Given the description of an element on the screen output the (x, y) to click on. 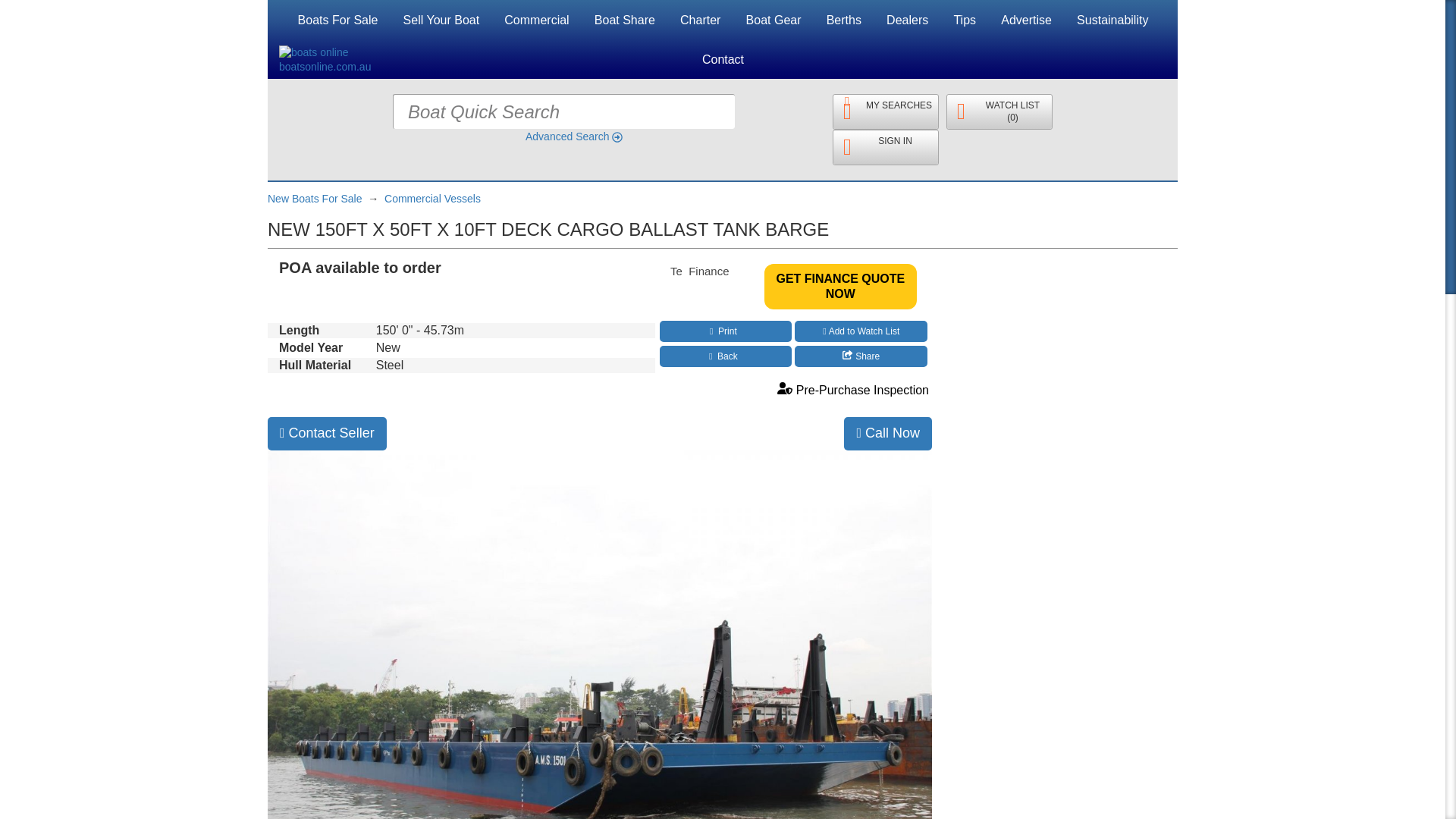
Commercial (536, 19)
Charter (700, 19)
Boats For Sale (338, 19)
Boat Share (624, 19)
Keyword Search (762, 111)
Sell Your Boat (441, 19)
